Given the description of an element on the screen output the (x, y) to click on. 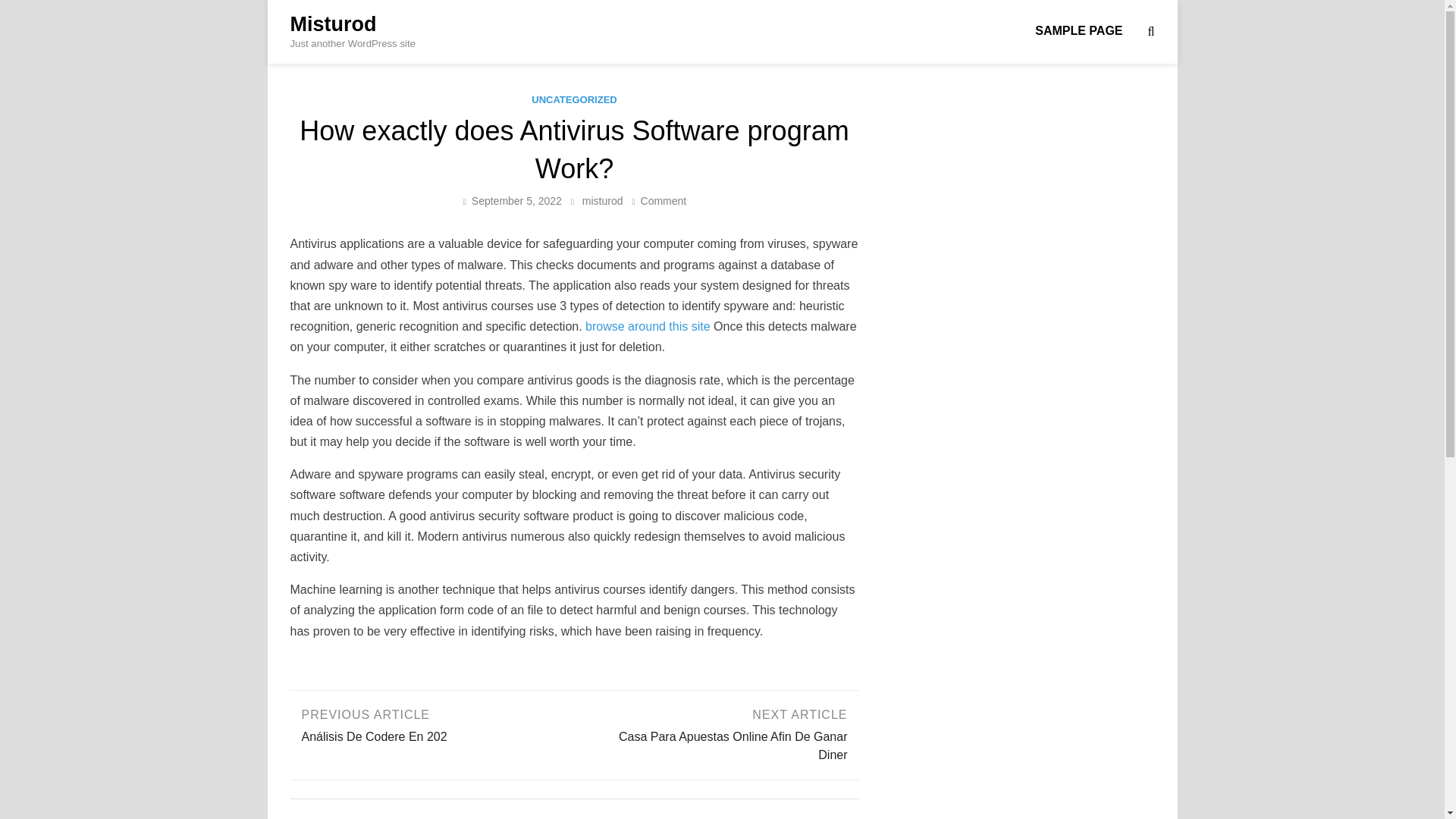
UNCATEGORIZED (573, 99)
browse around this site (647, 326)
September 5, 2022 (516, 200)
Misturod (663, 200)
misturod (716, 733)
SAMPLE PAGE (332, 24)
